Given the description of an element on the screen output the (x, y) to click on. 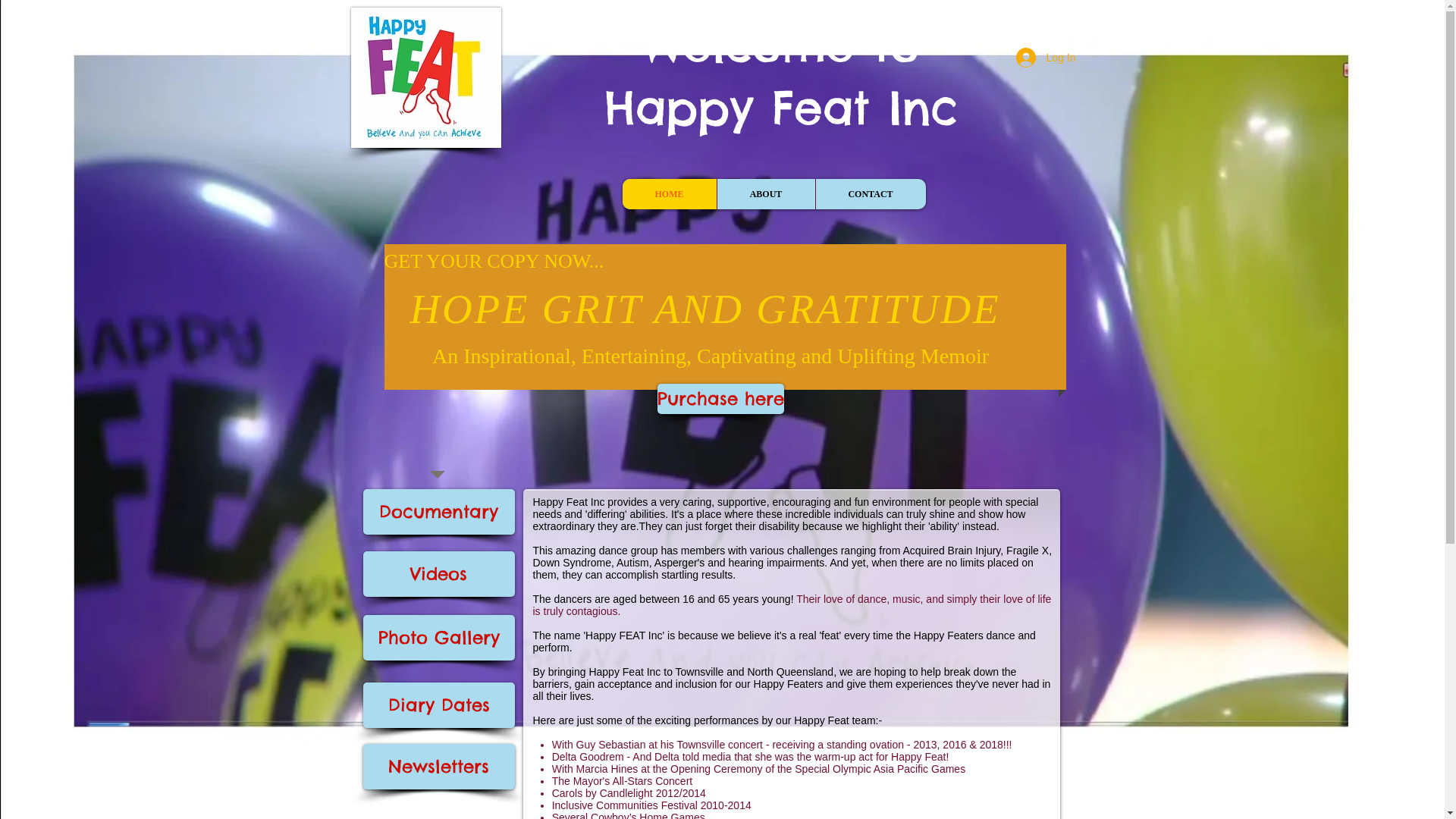
Videos Element type: text (438, 573)
Documentary Element type: text (438, 511)
Photo Gallery Element type: text (438, 637)
Facebook Like Element type: hover (454, 184)
ABOUT Element type: text (764, 193)
Log In Element type: text (1045, 57)
Diary Dates Element type: text (438, 705)
Purchase here Element type: text (719, 398)
HOME Element type: text (668, 193)
CONTACT Element type: text (869, 193)
Newsletters Element type: text (438, 766)
